Given the description of an element on the screen output the (x, y) to click on. 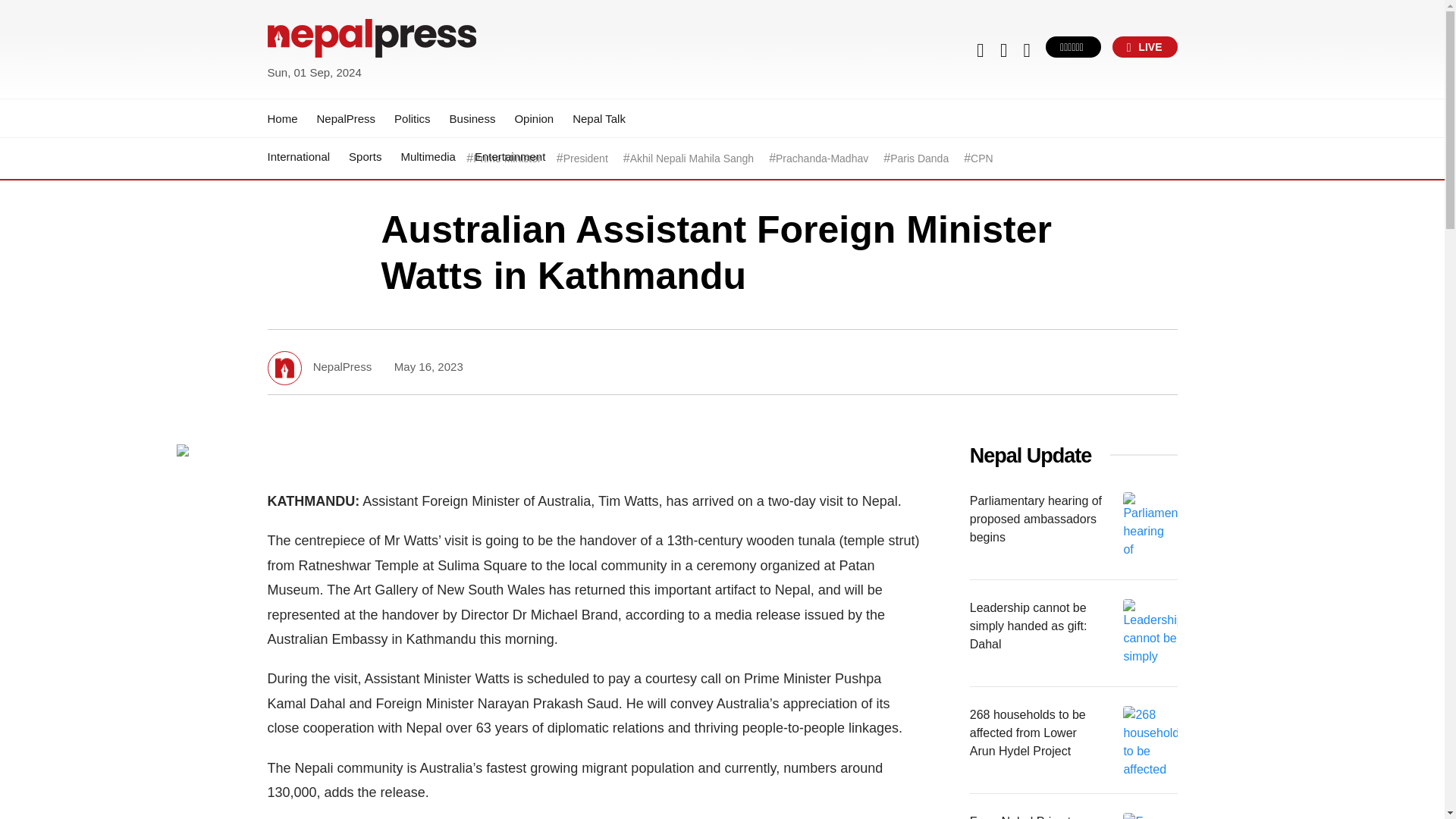
Paris Danda (919, 158)
Opinion (533, 118)
Prachanda-Madhav (821, 158)
Prime Minister (506, 158)
Politics (412, 118)
LIVE (1144, 46)
Akhil Nepali Mahila Sangh (692, 158)
NepalPress (346, 118)
Akhil Nepali Mahila Sangh (692, 158)
International (298, 156)
